Given the description of an element on the screen output the (x, y) to click on. 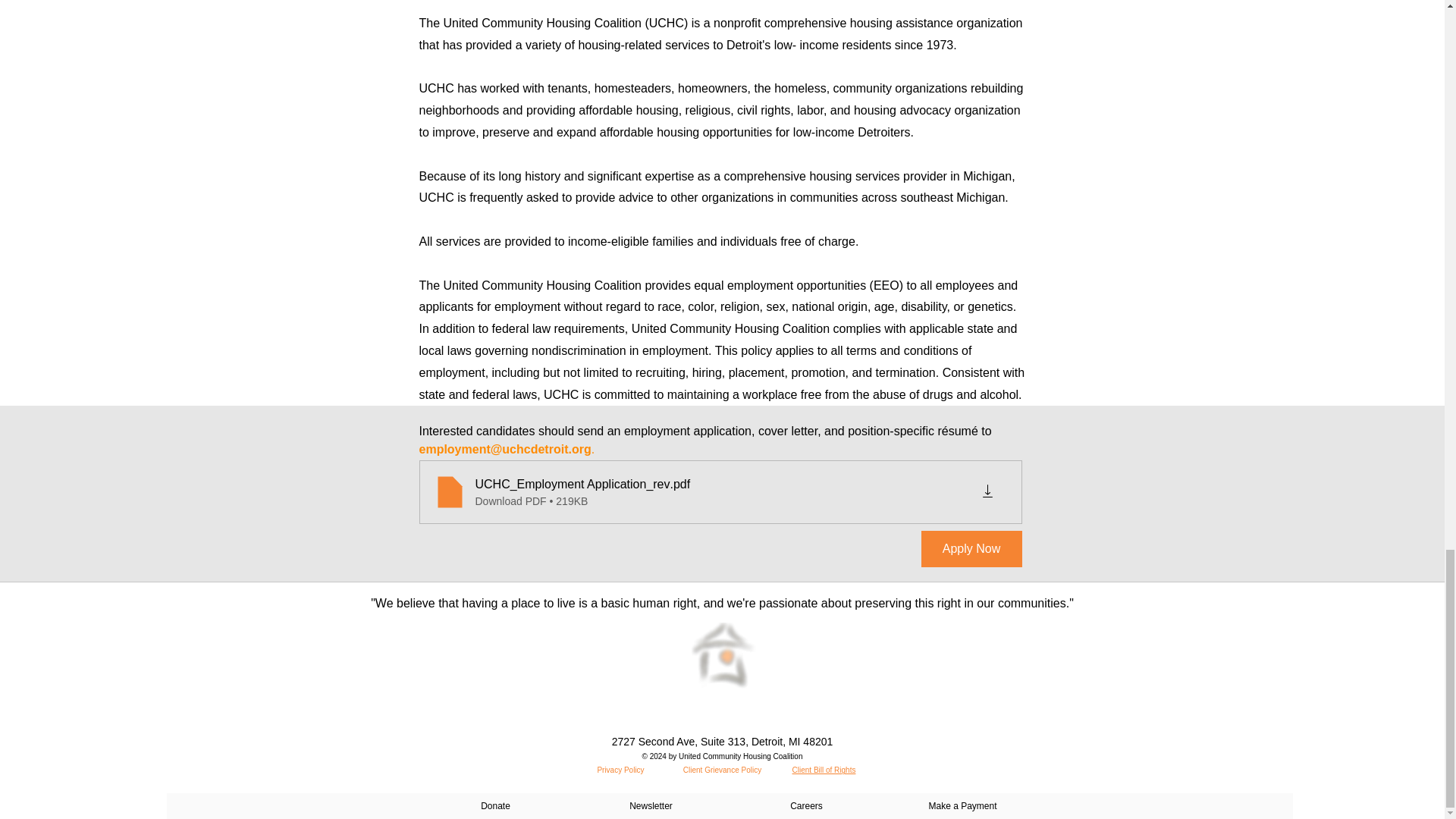
Apply Now (971, 548)
